Given the description of an element on the screen output the (x, y) to click on. 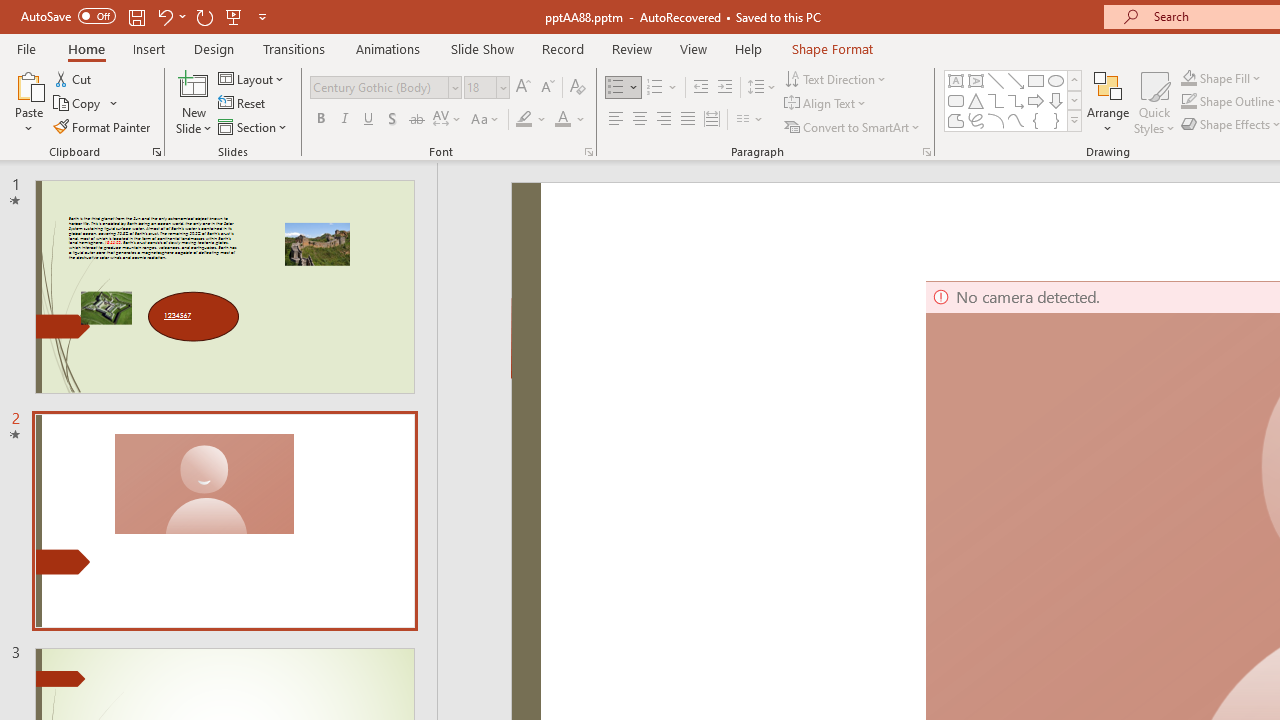
Simple Frame, White (492, 100)
Compress Pictures... (381, 78)
Rounded Diagonal Corner, White (1220, 100)
